Given the description of an element on the screen output the (x, y) to click on. 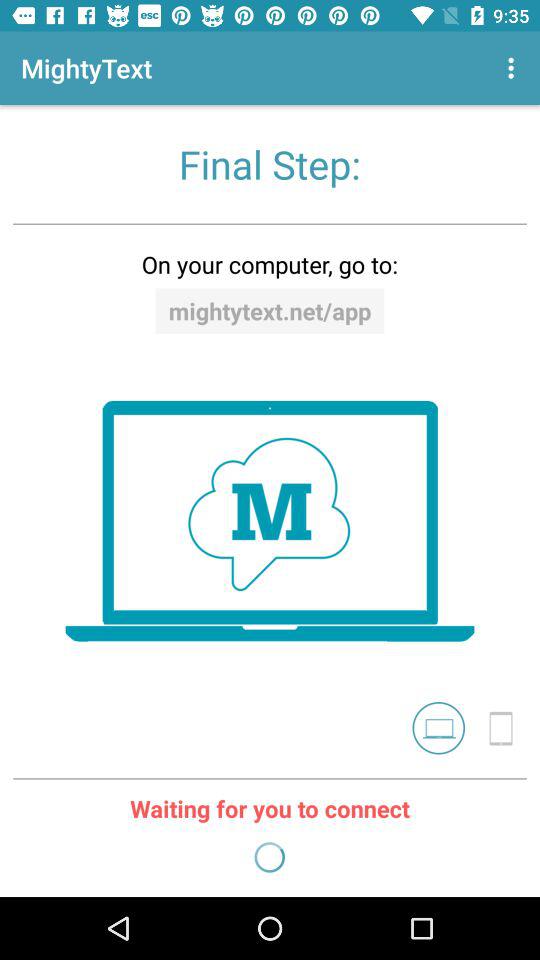
choose app next to mightytext item (513, 67)
